Given the description of an element on the screen output the (x, y) to click on. 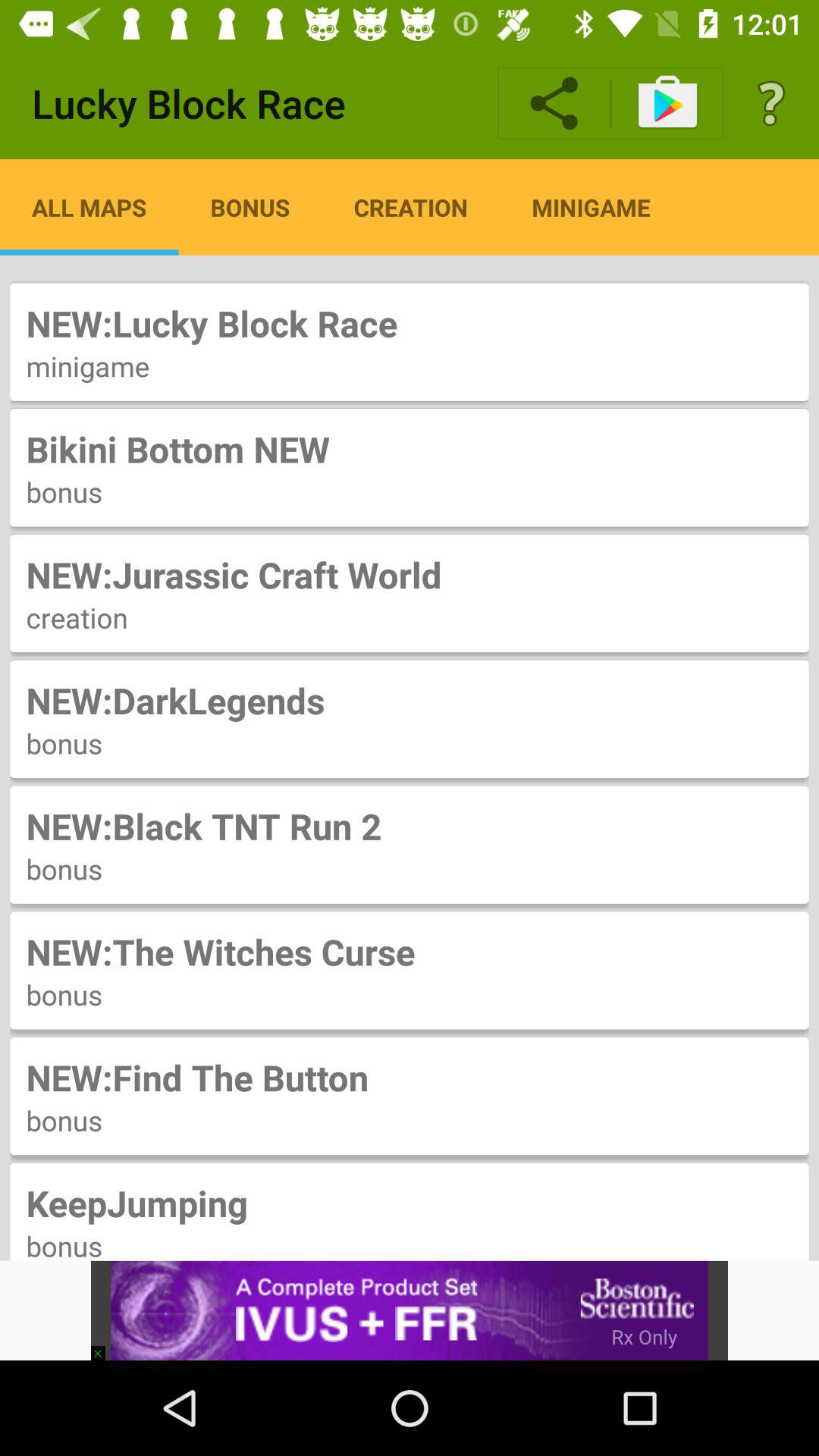
scroll until all maps item (89, 207)
